Given the description of an element on the screen output the (x, y) to click on. 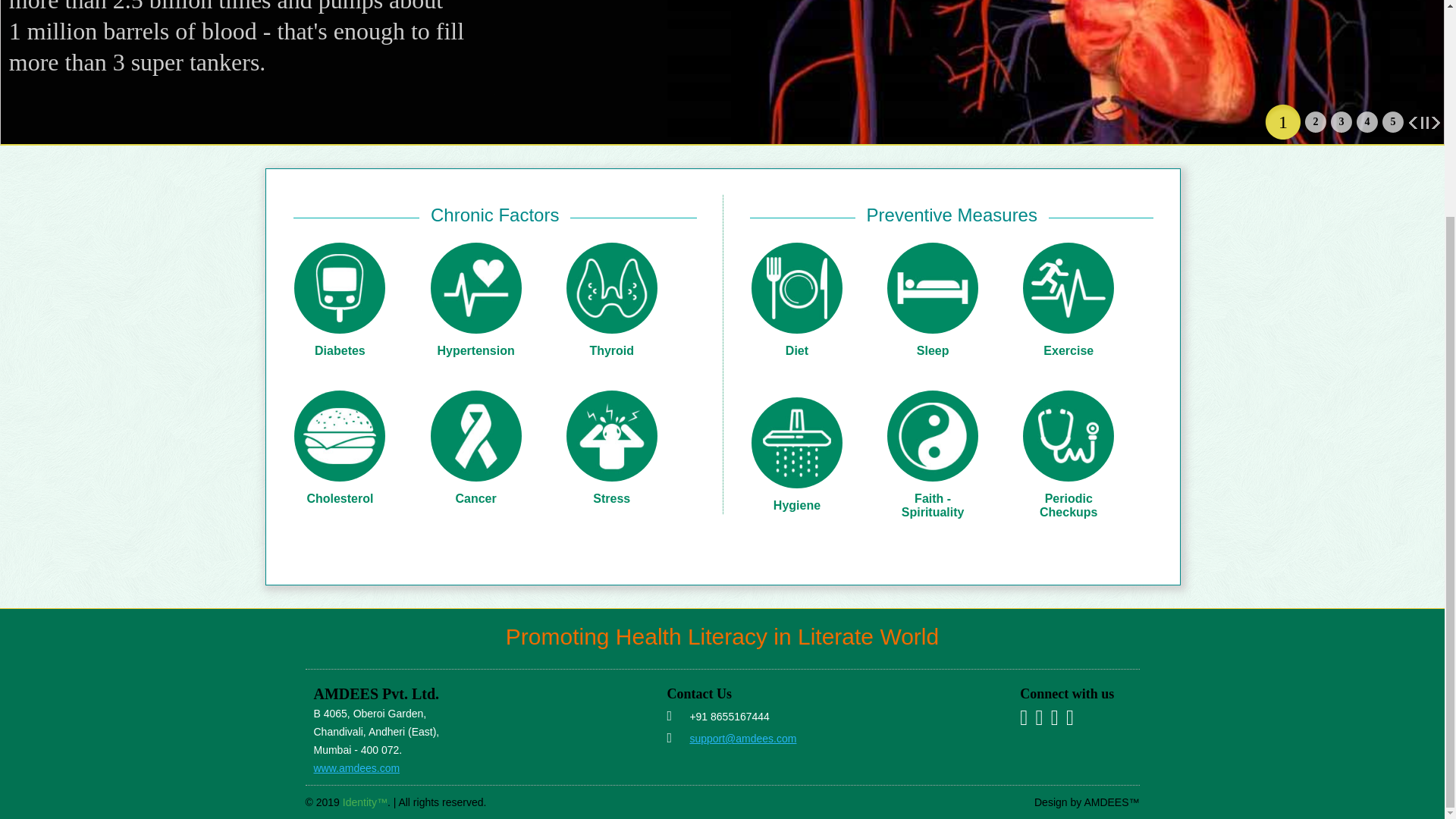
3 (1341, 122)
Brain (1392, 122)
1 (1283, 122)
4 (1367, 122)
Heart (1283, 122)
Lungs (1367, 122)
Blood (1315, 122)
2 (1315, 122)
